Given the description of an element on the screen output the (x, y) to click on. 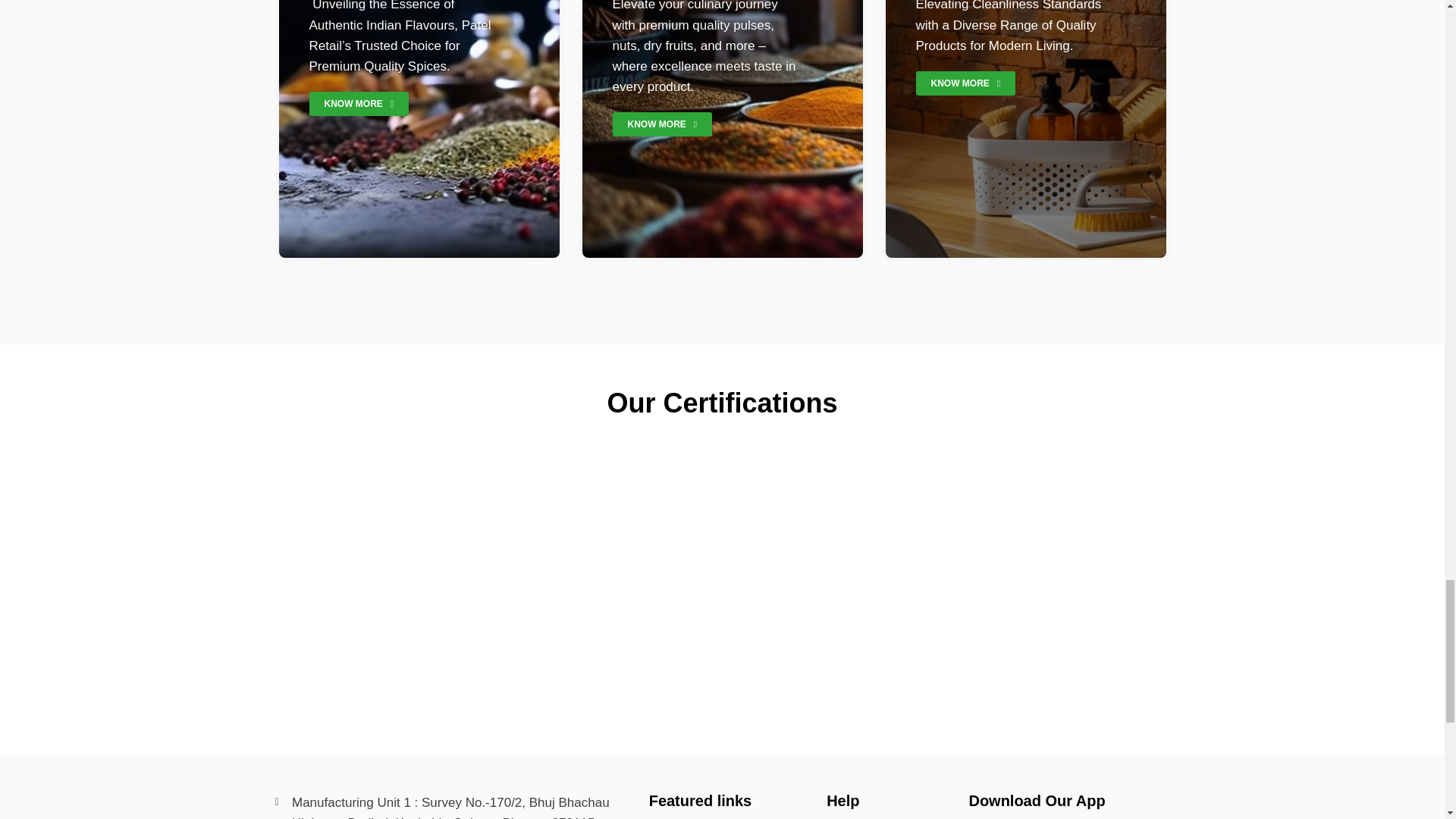
KNOW MORE (965, 83)
KNOW MORE (662, 124)
KNOW MORE (358, 103)
